Given the description of an element on the screen output the (x, y) to click on. 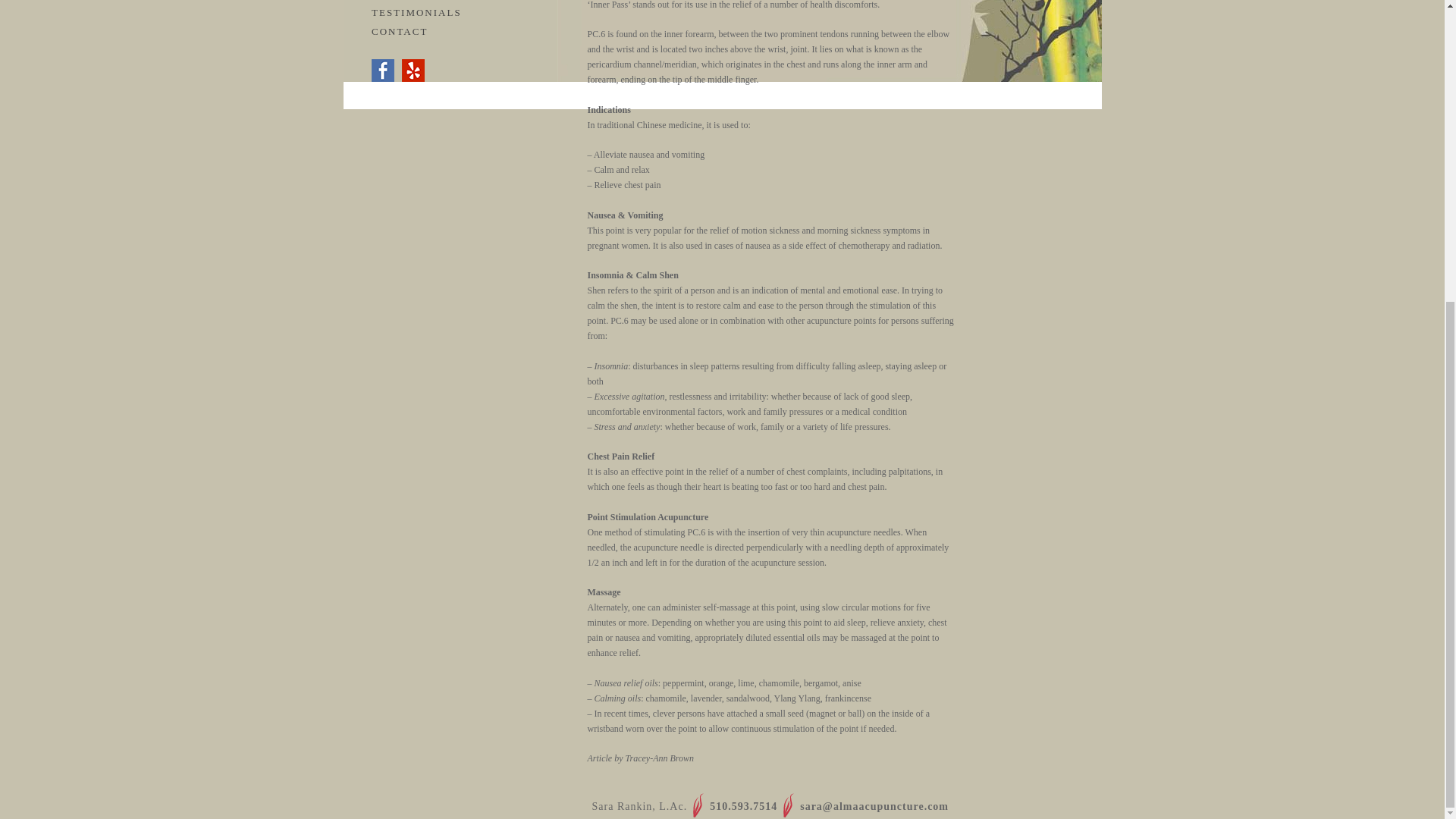
TESTIMONIALS (416, 12)
CONTACT (399, 30)
